Given the description of an element on the screen output the (x, y) to click on. 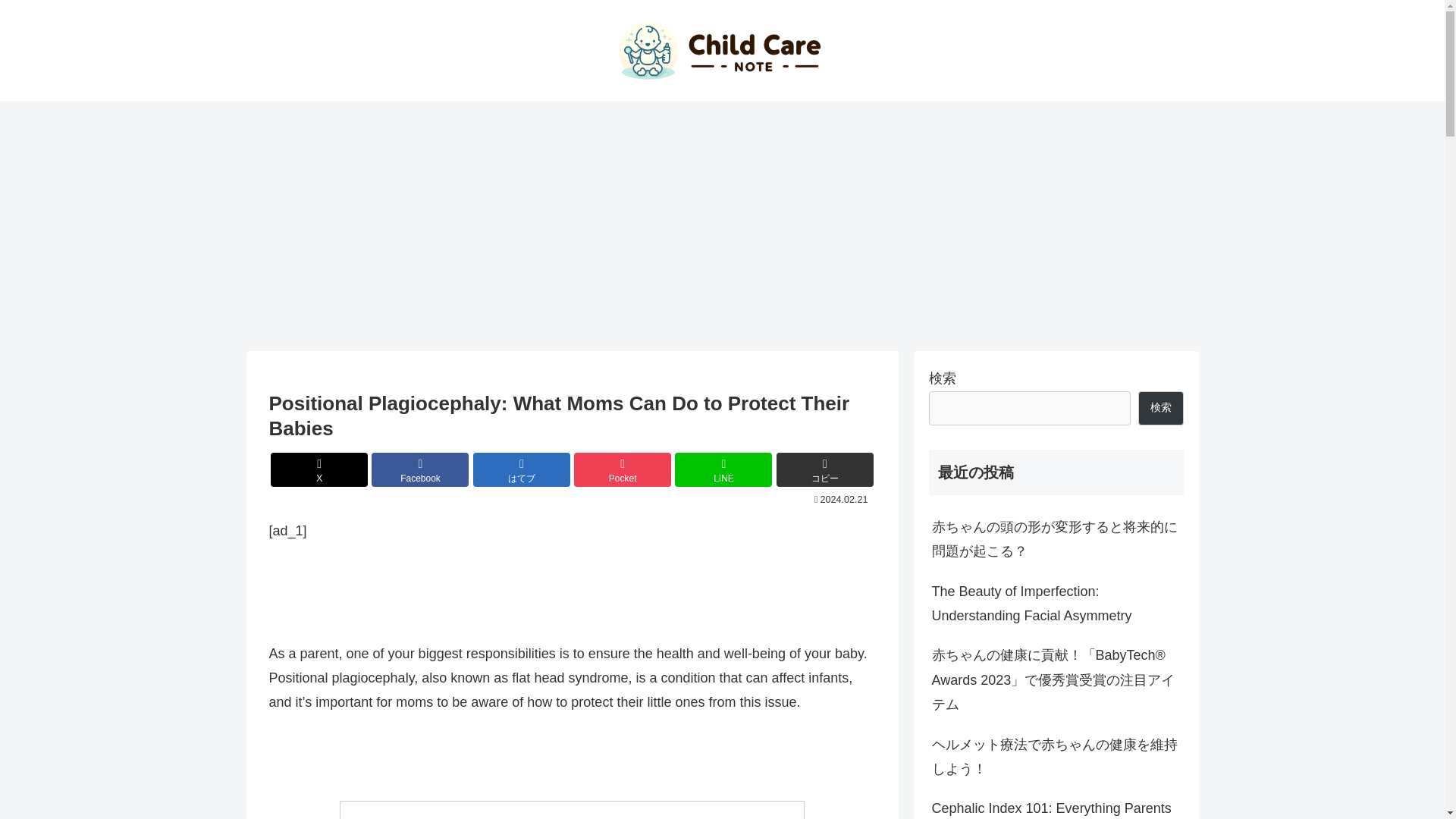
LINE (723, 469)
X (319, 469)
Facebook (419, 469)
Pocket (622, 469)
